Given the description of an element on the screen output the (x, y) to click on. 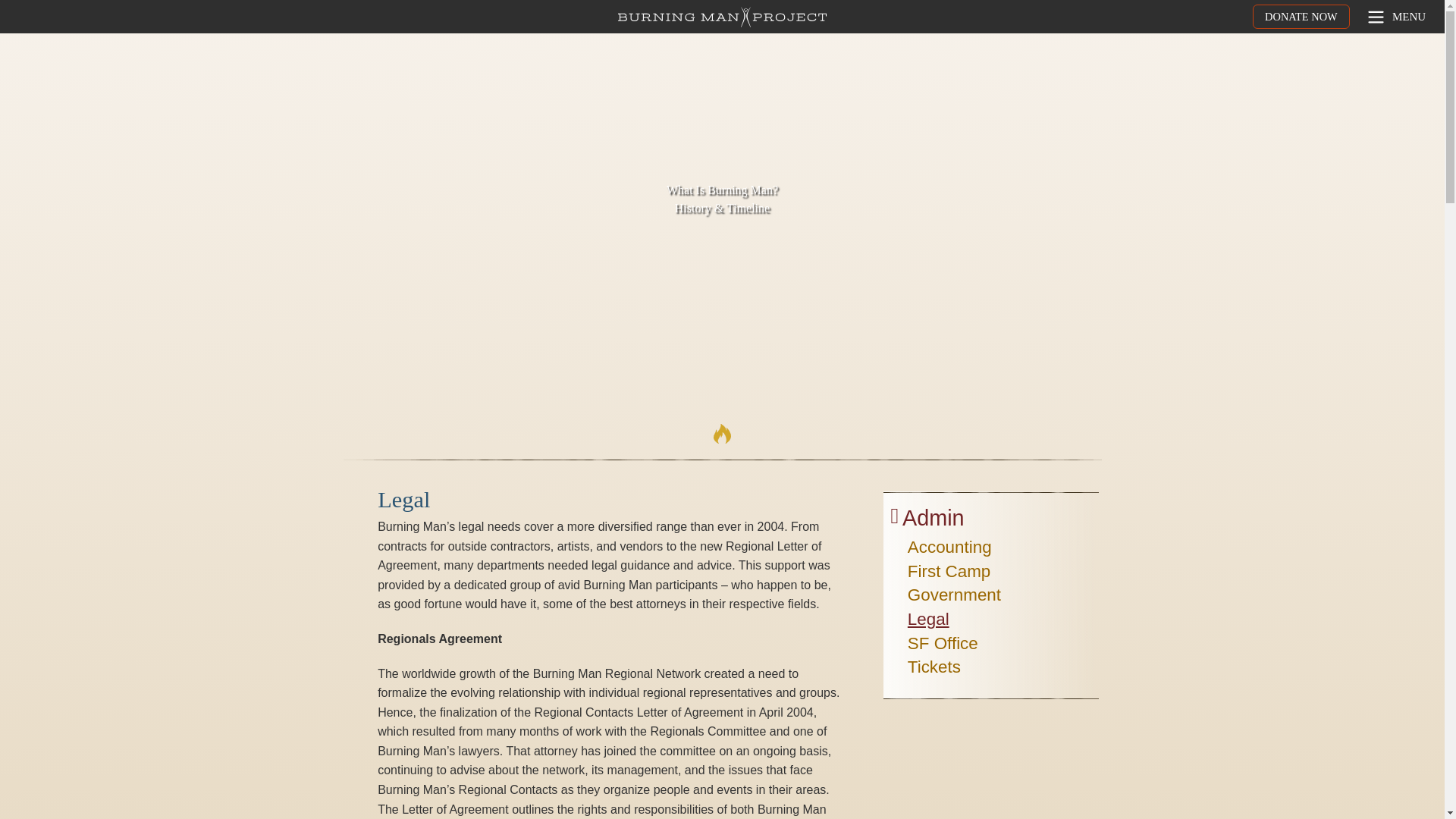
Admin (932, 522)
SF Office (942, 645)
Tickets (933, 669)
DONATE NOW (1300, 16)
Legal (928, 621)
Accounting (949, 549)
Government (954, 597)
MENU (1395, 16)
First Camp (948, 573)
